Given the description of an element on the screen output the (x, y) to click on. 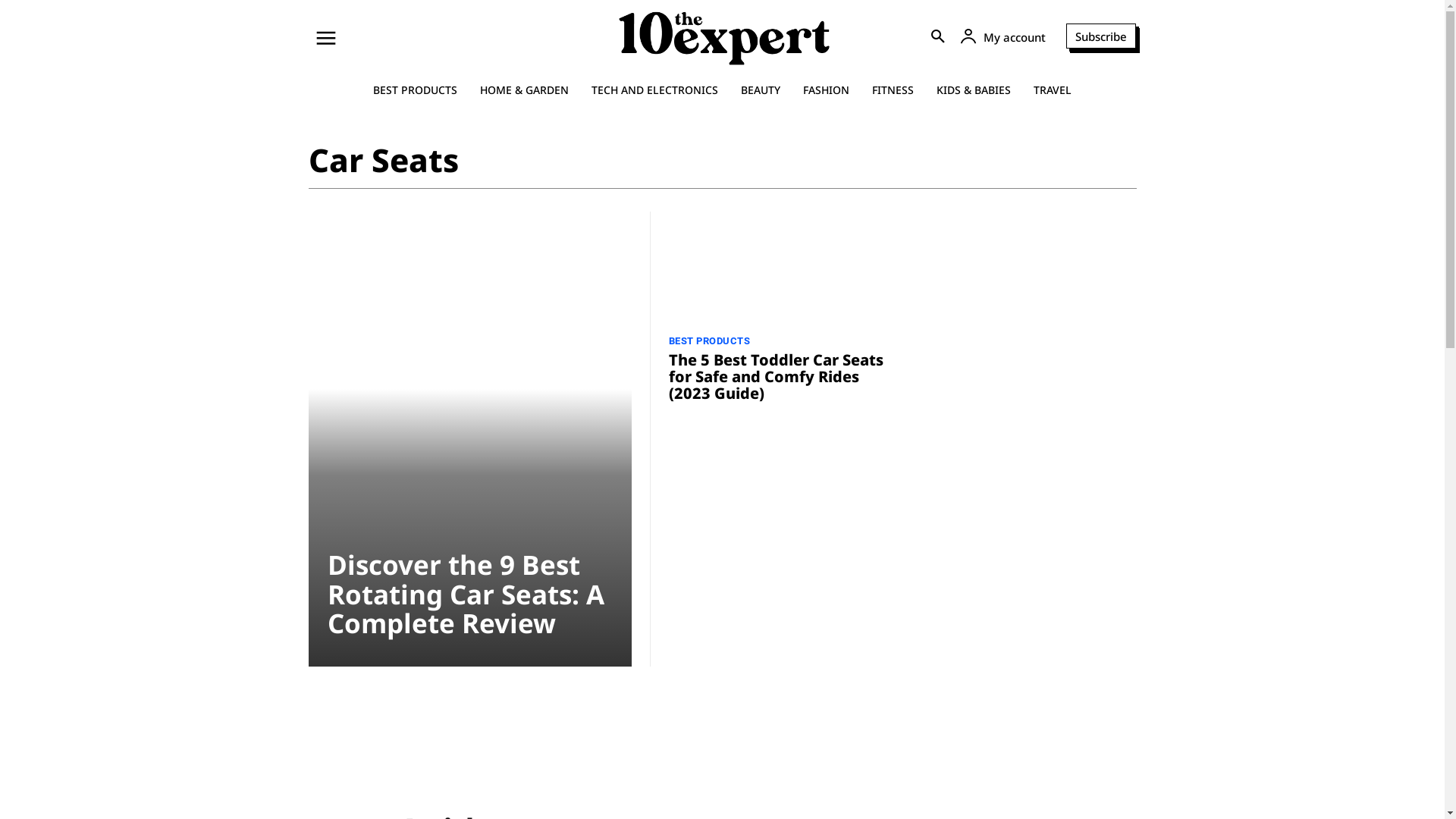
BEST PRODUCTS Element type: text (414, 90)
KIDS & BABIES Element type: text (973, 90)
Discover the 9 Best Rotating Car Seats: A Complete Review Element type: hover (468, 438)
TRAVEL Element type: text (1052, 90)
HOME & GARDEN Element type: text (524, 90)
FITNESS Element type: text (892, 90)
FASHION Element type: text (825, 90)
10expert logo Element type: hover (723, 35)
Subscribe Element type: text (1100, 35)
TECH AND ELECTRONICS Element type: text (654, 90)
BEST PRODUCTS Element type: text (709, 340)
10expert logo Element type: hover (724, 35)
BEAUTY Element type: text (760, 90)
Discover the 9 Best Rotating Car Seats: A Complete Review Element type: text (465, 593)
